Given the description of an element on the screen output the (x, y) to click on. 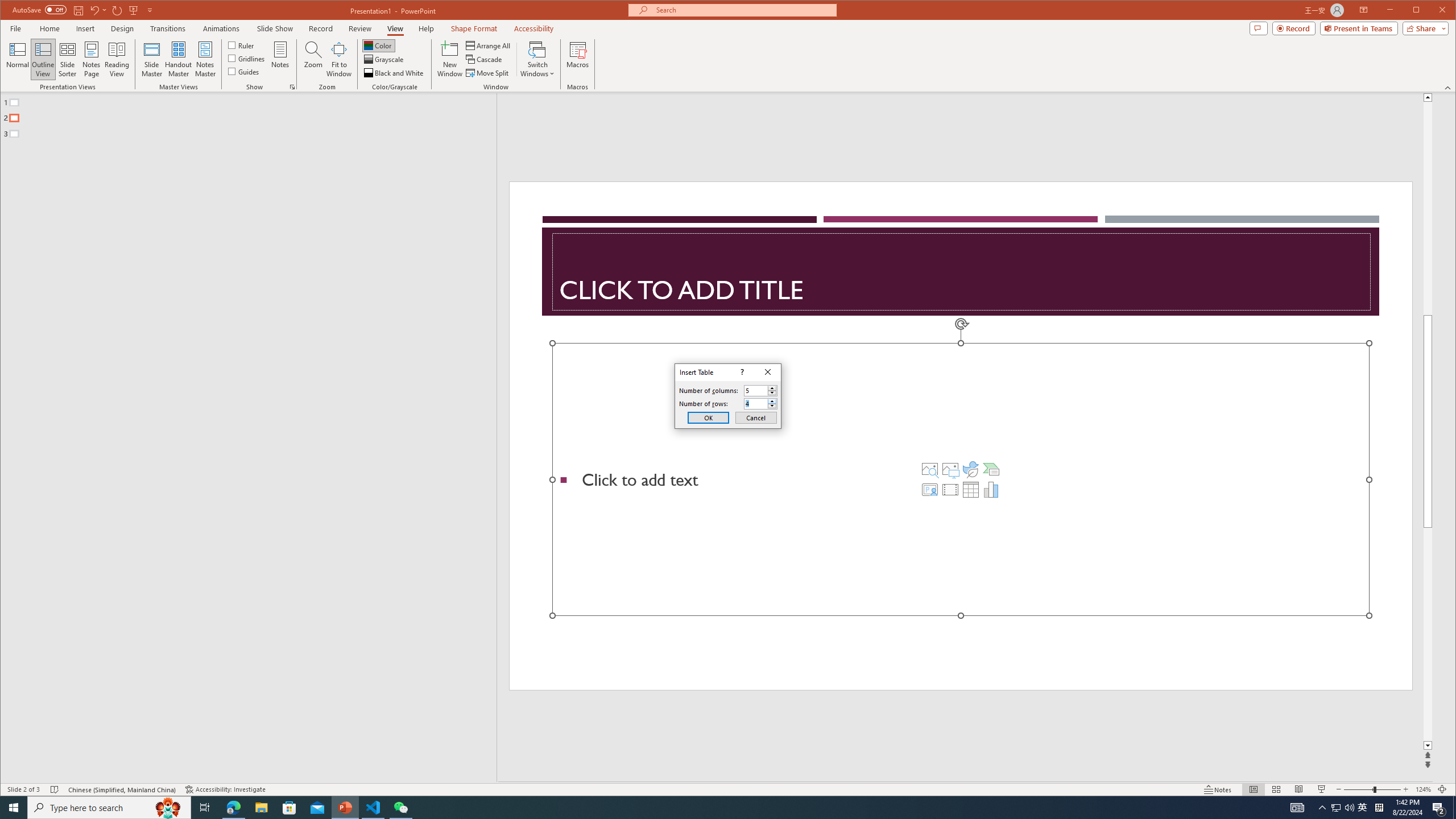
Ruler (241, 44)
Arrange All (488, 45)
Zoom... (312, 59)
Number of rows (760, 403)
Insert a SmartArt Graphic (991, 469)
Insert Chart (991, 489)
Switch Windows (537, 59)
Notes Master (204, 59)
Outline (252, 115)
